Given the description of an element on the screen output the (x, y) to click on. 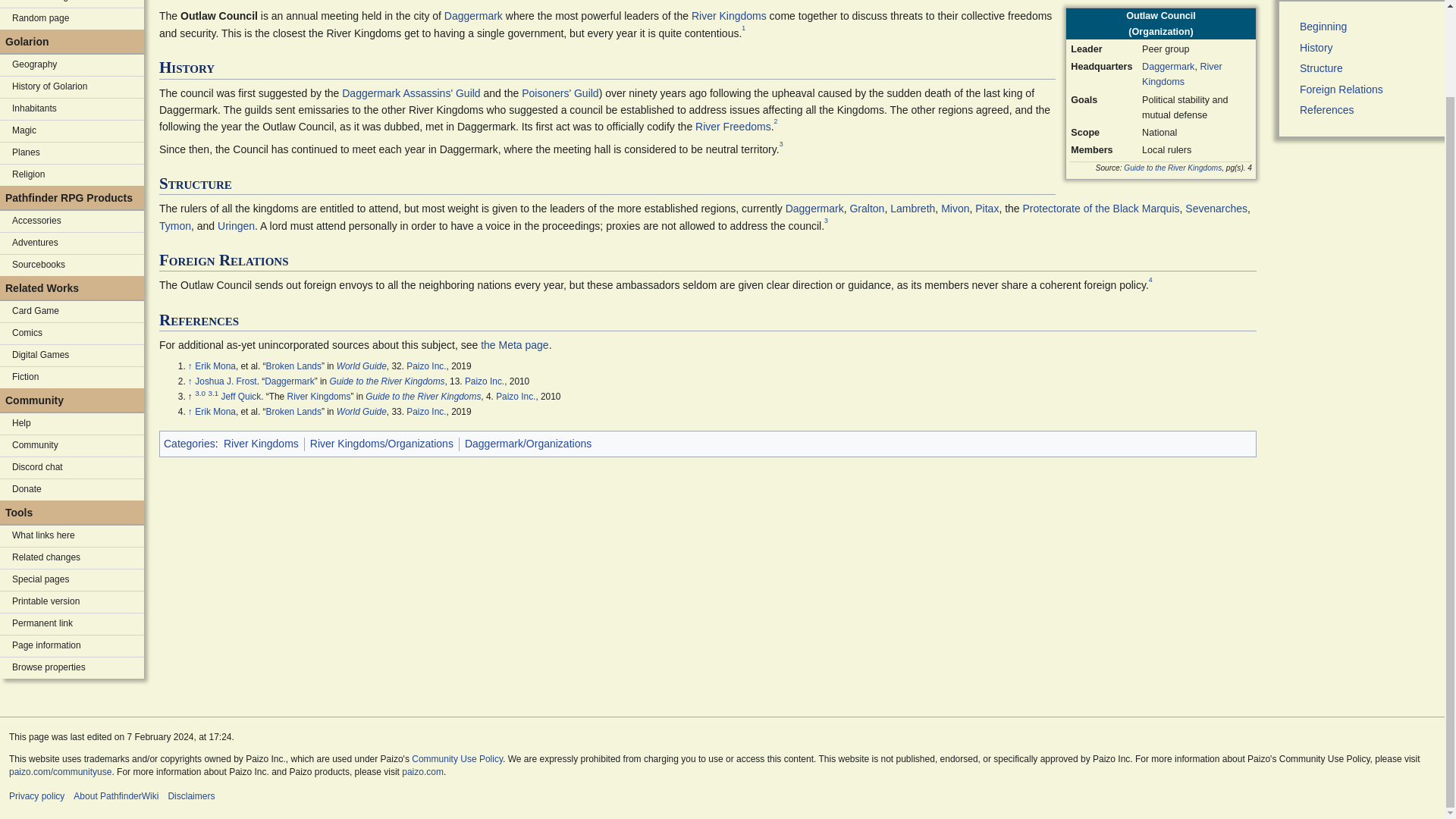
Recent changes (72, 3)
Accessories (72, 220)
Card Game (72, 311)
Geography (72, 65)
Browse properties (72, 667)
Religion (72, 174)
Sourcebooks (72, 265)
Structure (1367, 8)
Random page (72, 18)
Fiction (72, 377)
What links here (72, 536)
Community (72, 445)
Magic (72, 130)
Related changes (72, 557)
Page information (72, 645)
